Given the description of an element on the screen output the (x, y) to click on. 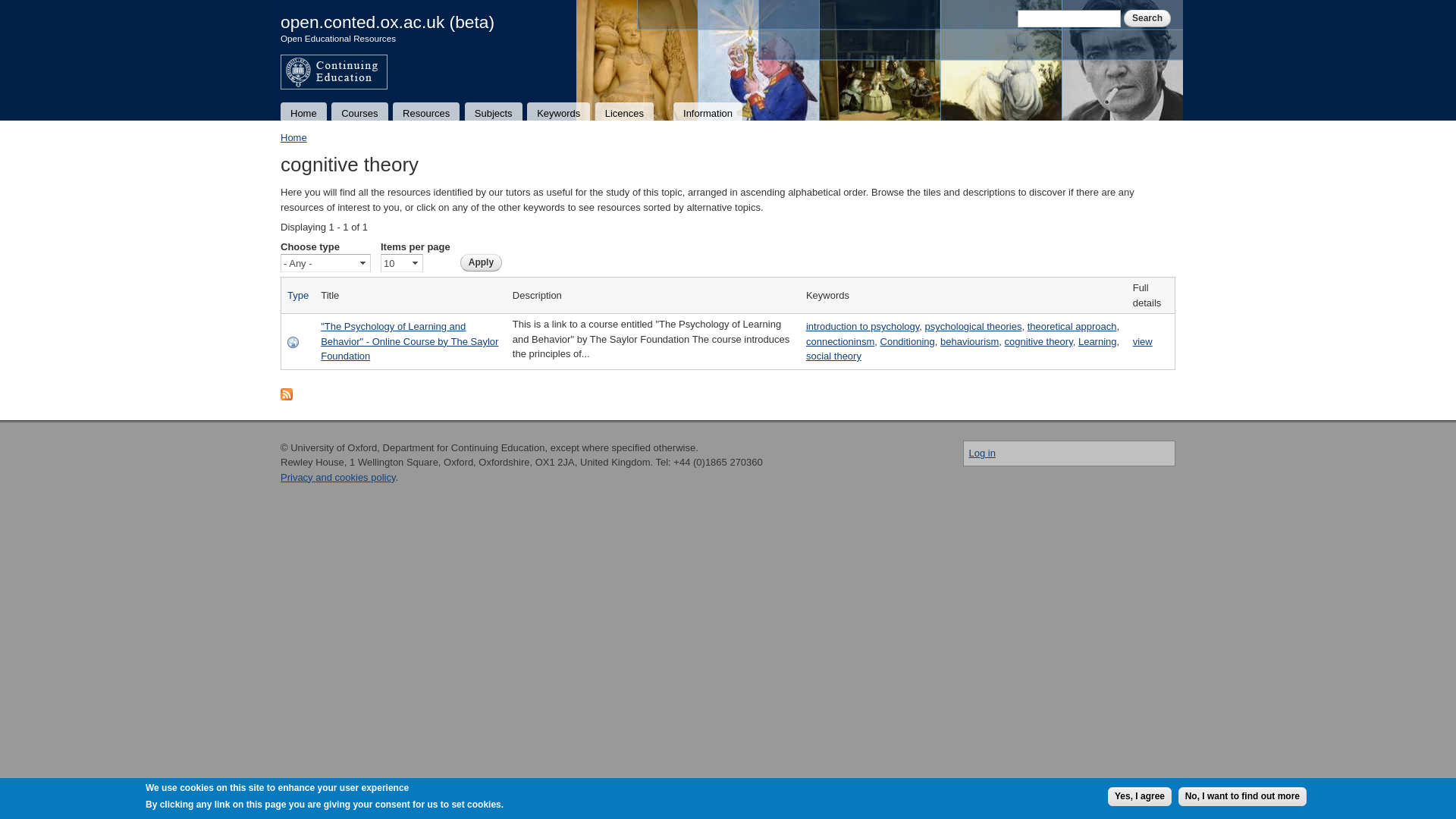
Home (294, 137)
Search (1147, 18)
Type (297, 295)
Privacy and cookies policy (338, 477)
theoretical approach (1071, 326)
view (1142, 341)
cognitive theory (1038, 341)
Keywords (558, 112)
Courses (358, 112)
Click to visit the Continuing Education website (334, 81)
Search (1147, 18)
psychological theories (973, 326)
Enter the terms you wish to search for. (1069, 18)
Information (707, 112)
Log in (982, 452)
